Given the description of an element on the screen output the (x, y) to click on. 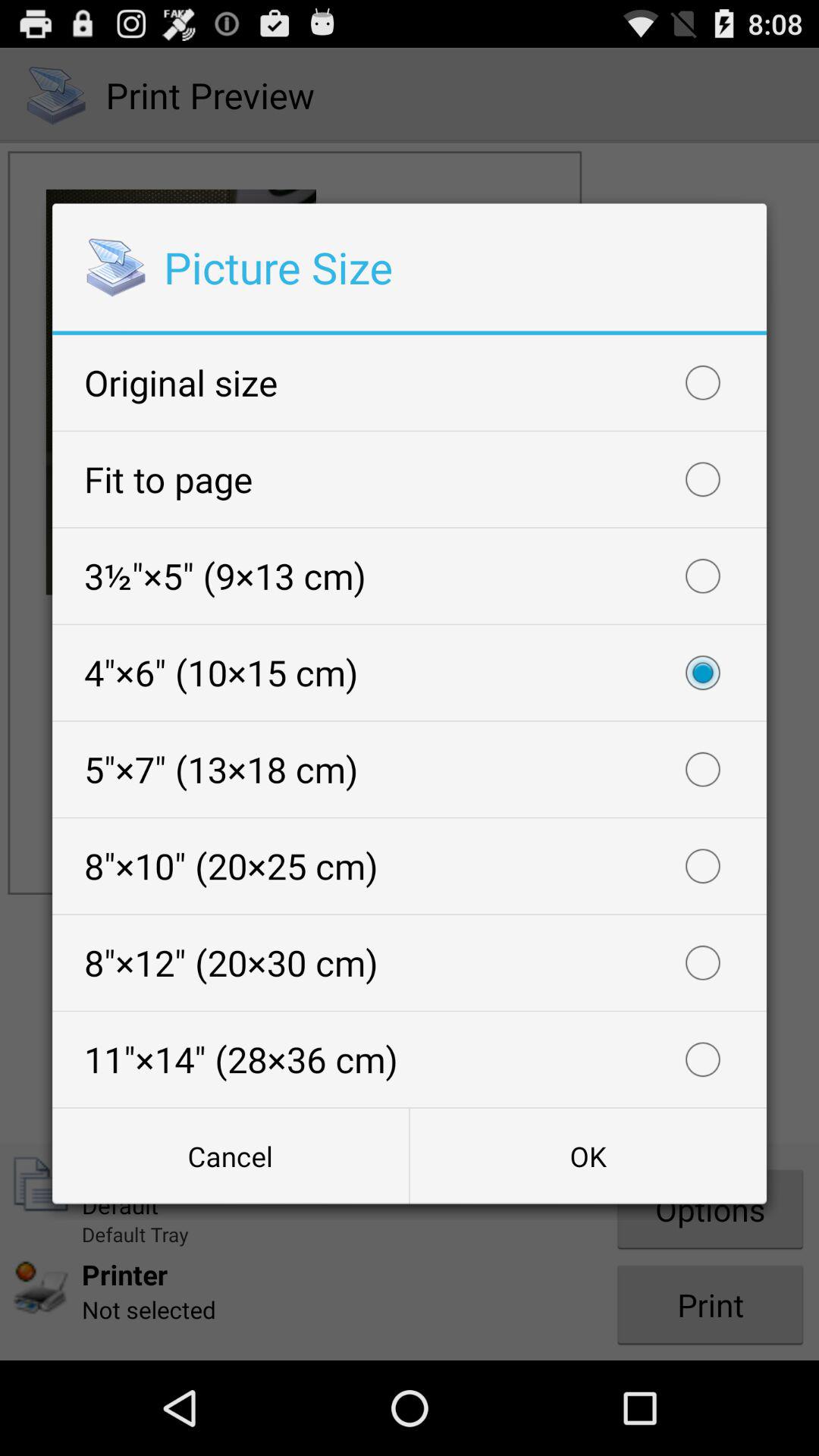
select the icon at the bottom right corner (588, 1156)
